Given the description of an element on the screen output the (x, y) to click on. 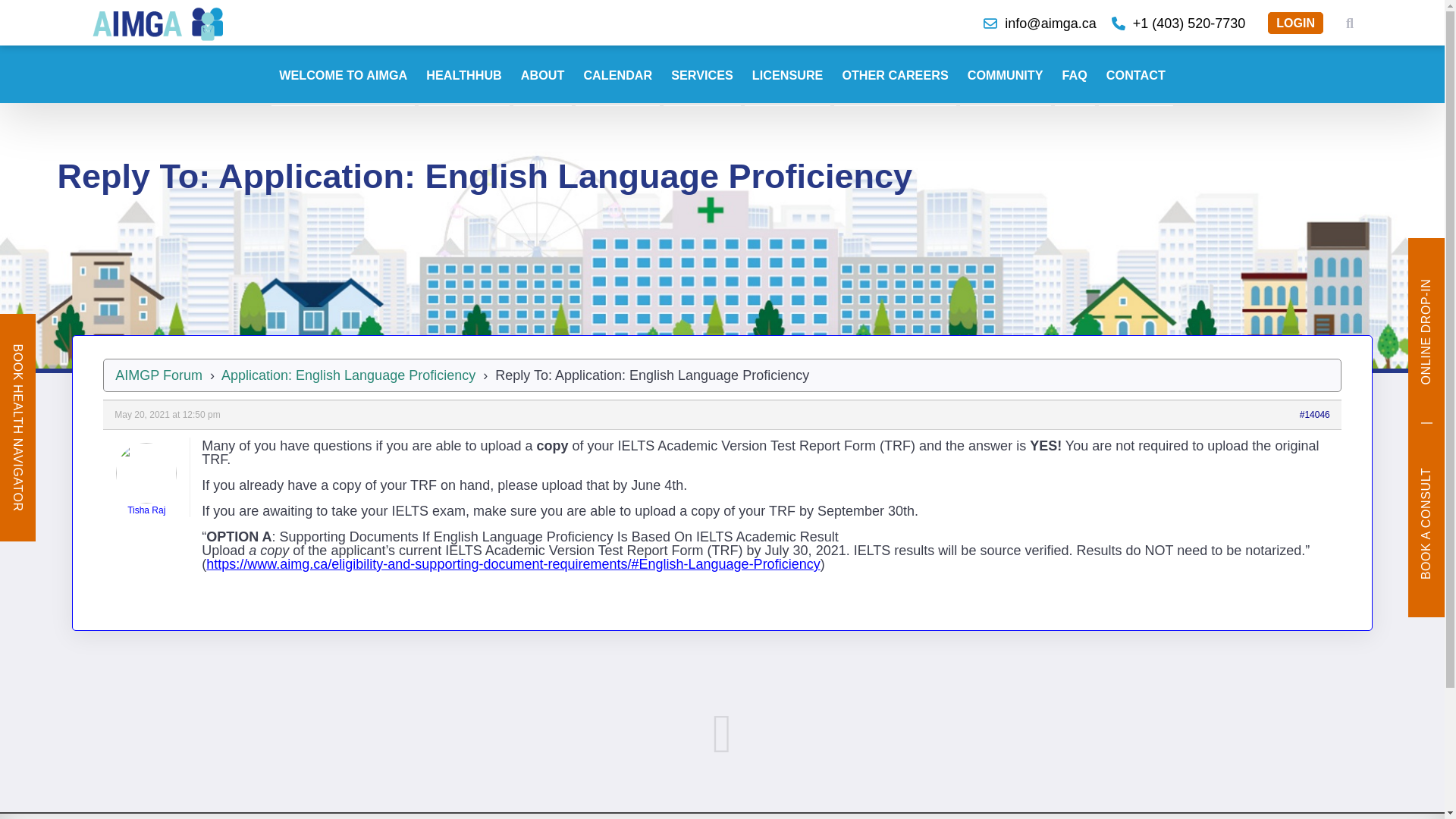
View Tisha Raj's profile (146, 479)
SERVICES (702, 75)
COMMUNITY (1005, 75)
ABOUT (542, 75)
CONTACT (1136, 75)
CALENDAR (617, 75)
WELCOME TO AIMGA (342, 75)
OTHER CAREERS (894, 75)
HEALTHHUB (464, 75)
LICENSURE (787, 75)
Login (1295, 23)
